Given the description of an element on the screen output the (x, y) to click on. 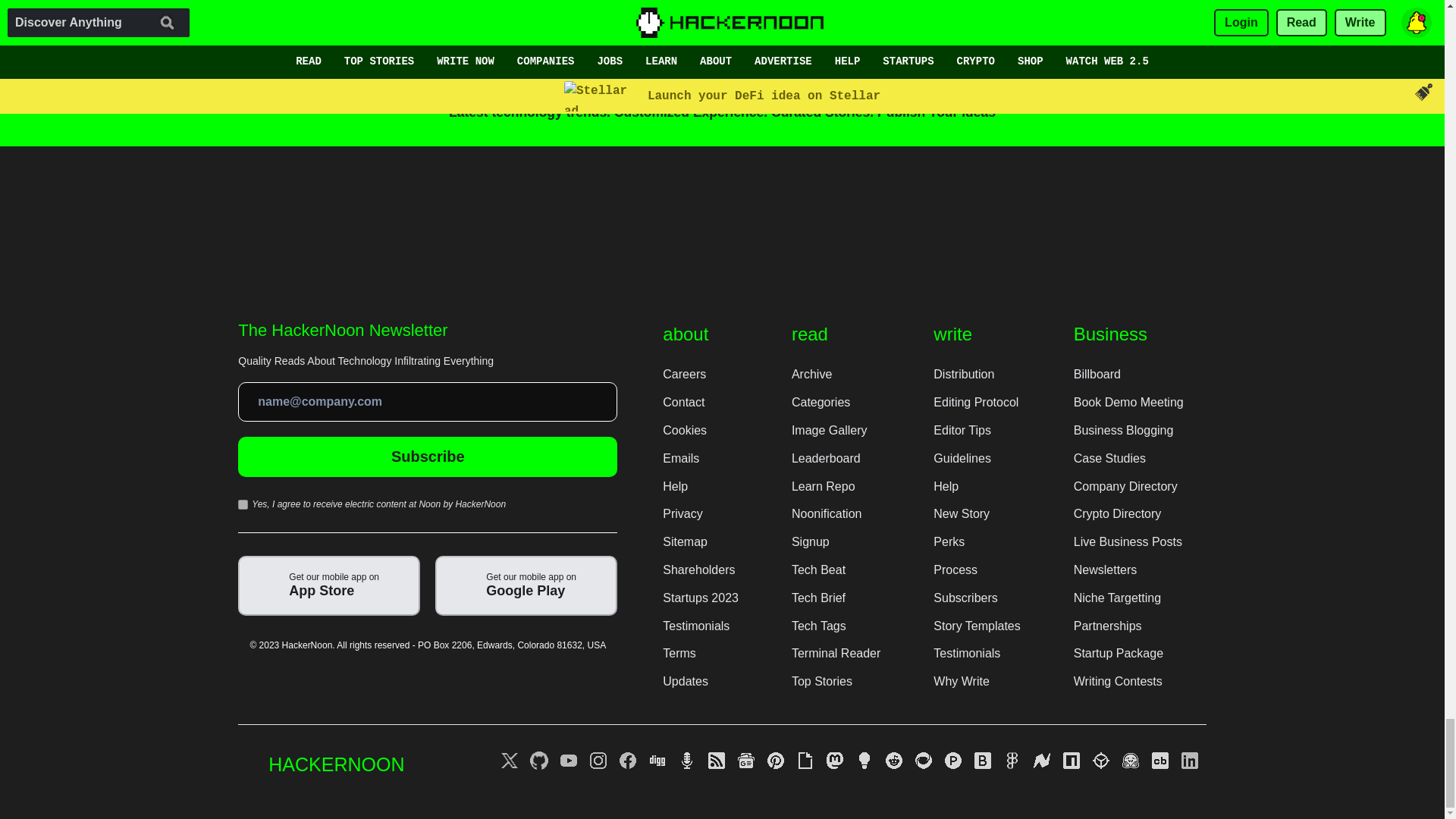
on (242, 504)
